Given the description of an element on the screen output the (x, y) to click on. 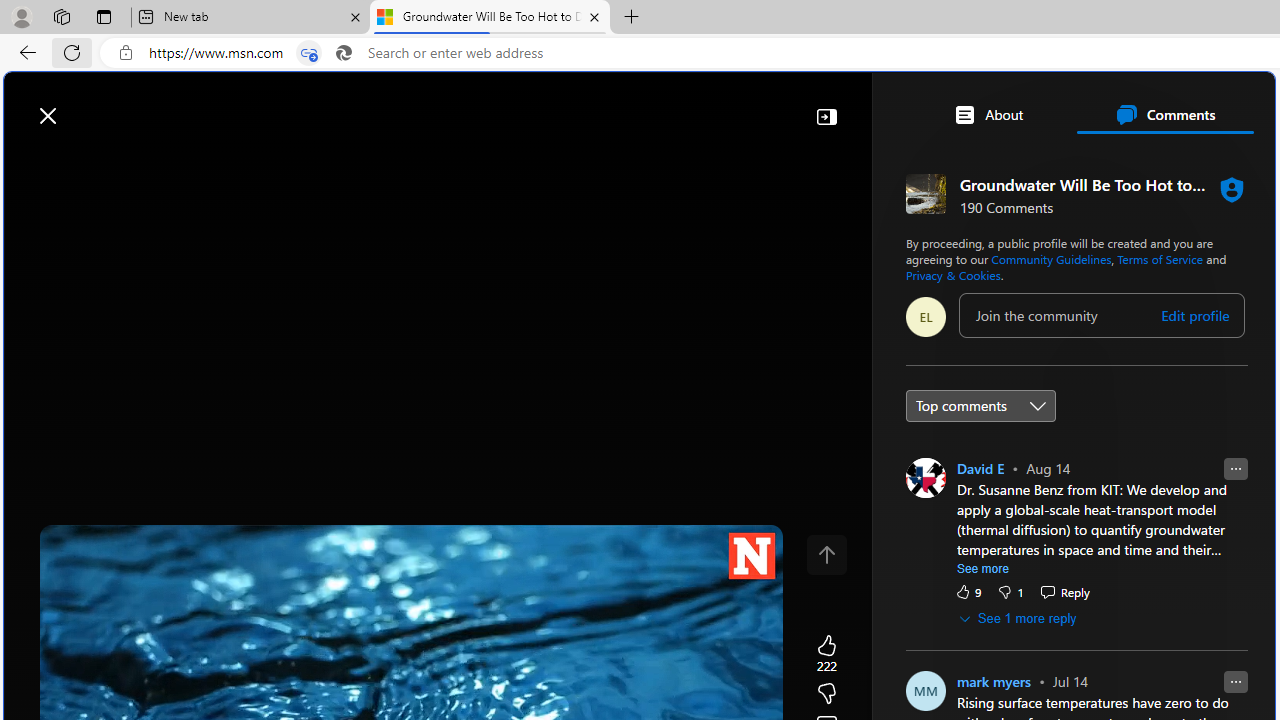
Edit profile (1195, 315)
About (987, 114)
Report comment (1235, 681)
222 Like (826, 653)
Comments (1165, 114)
Profile Picture (924, 690)
Community Guidelines (1051, 258)
Tabs in split screen (308, 53)
The Associated Press (974, 645)
Class: control icon-only (826, 554)
